Given the description of an element on the screen output the (x, y) to click on. 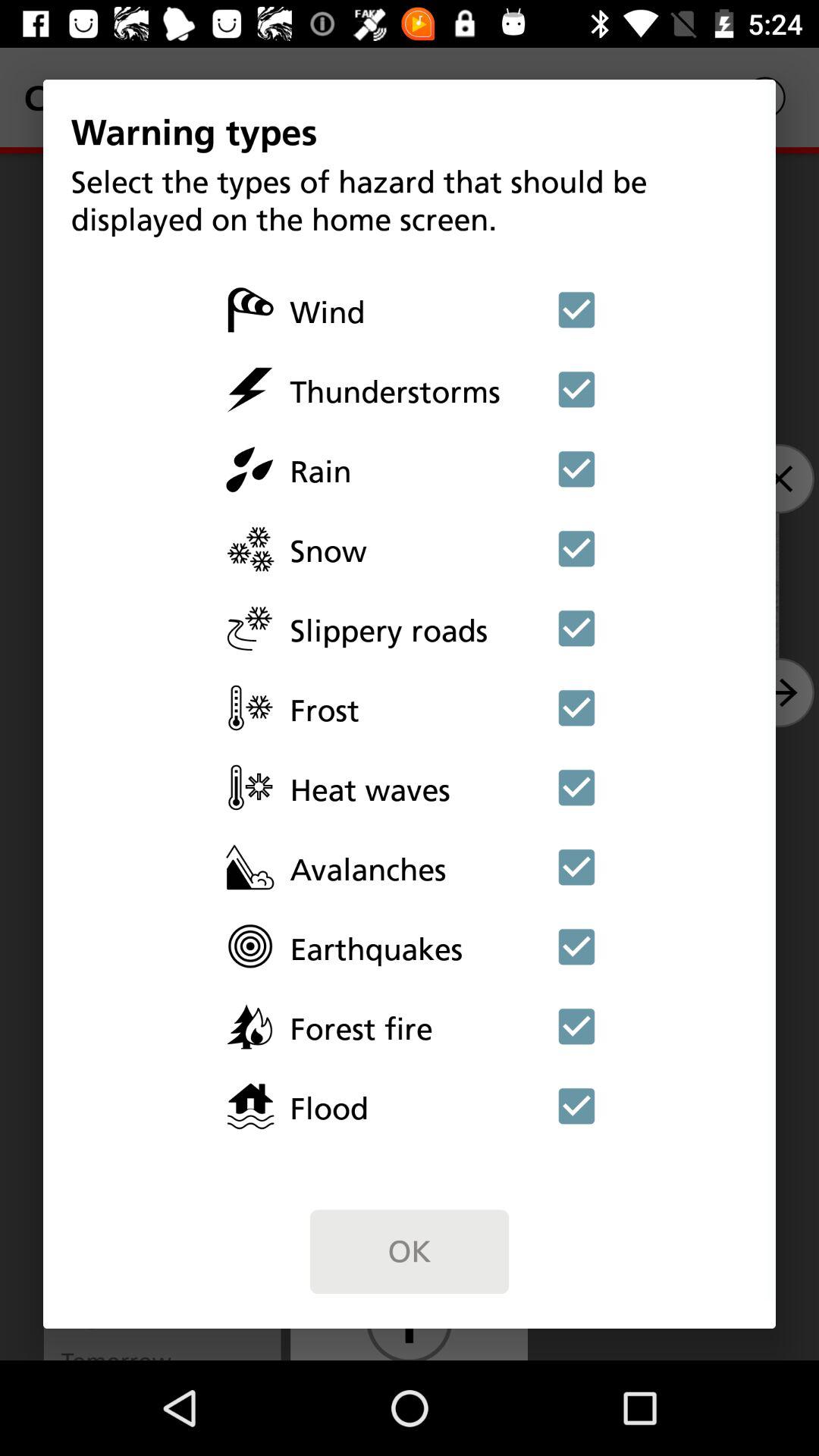
display snow warnings (576, 548)
